Given the description of an element on the screen output the (x, y) to click on. 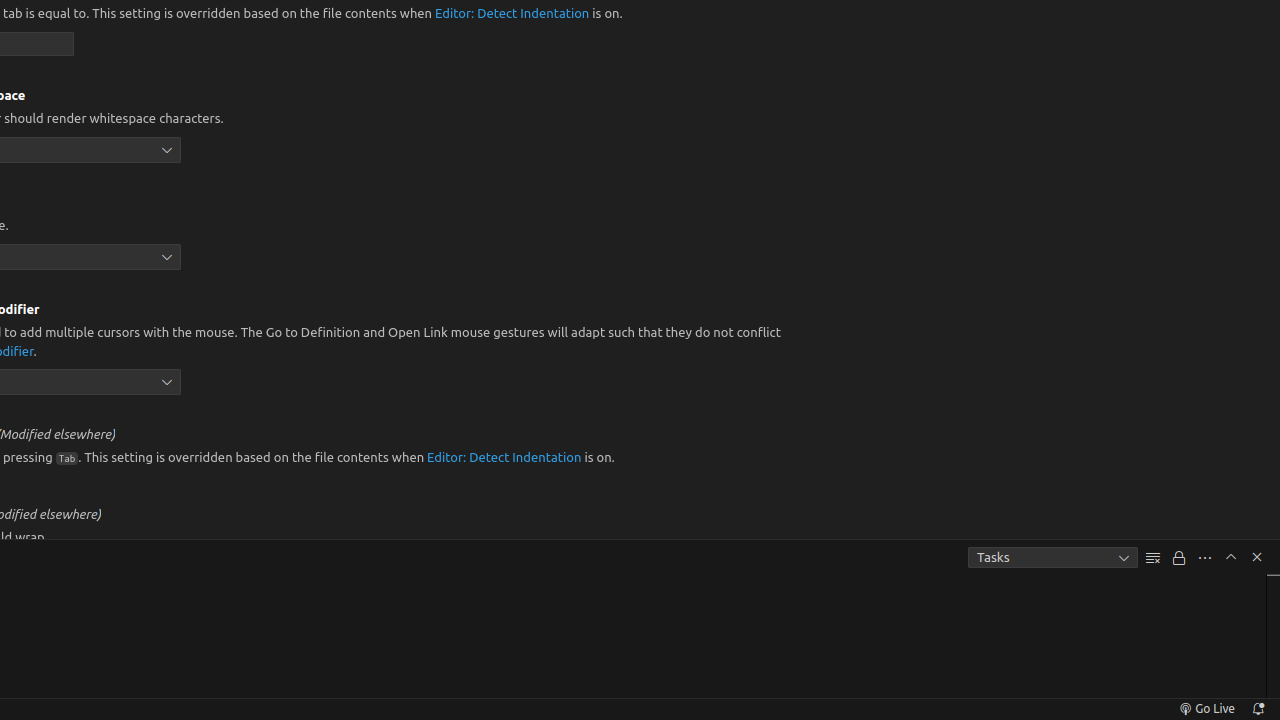
Maximize Panel Size Element type: check-box (1231, 557)
Clear Output Element type: push-button (1153, 557)
Views and More Actions... Element type: push-button (1205, 557)
broadcast Go Live, Click to run live server Element type: push-button (1206, 709)
Hide Panel Element type: push-button (1257, 557)
